Given the description of an element on the screen output the (x, y) to click on. 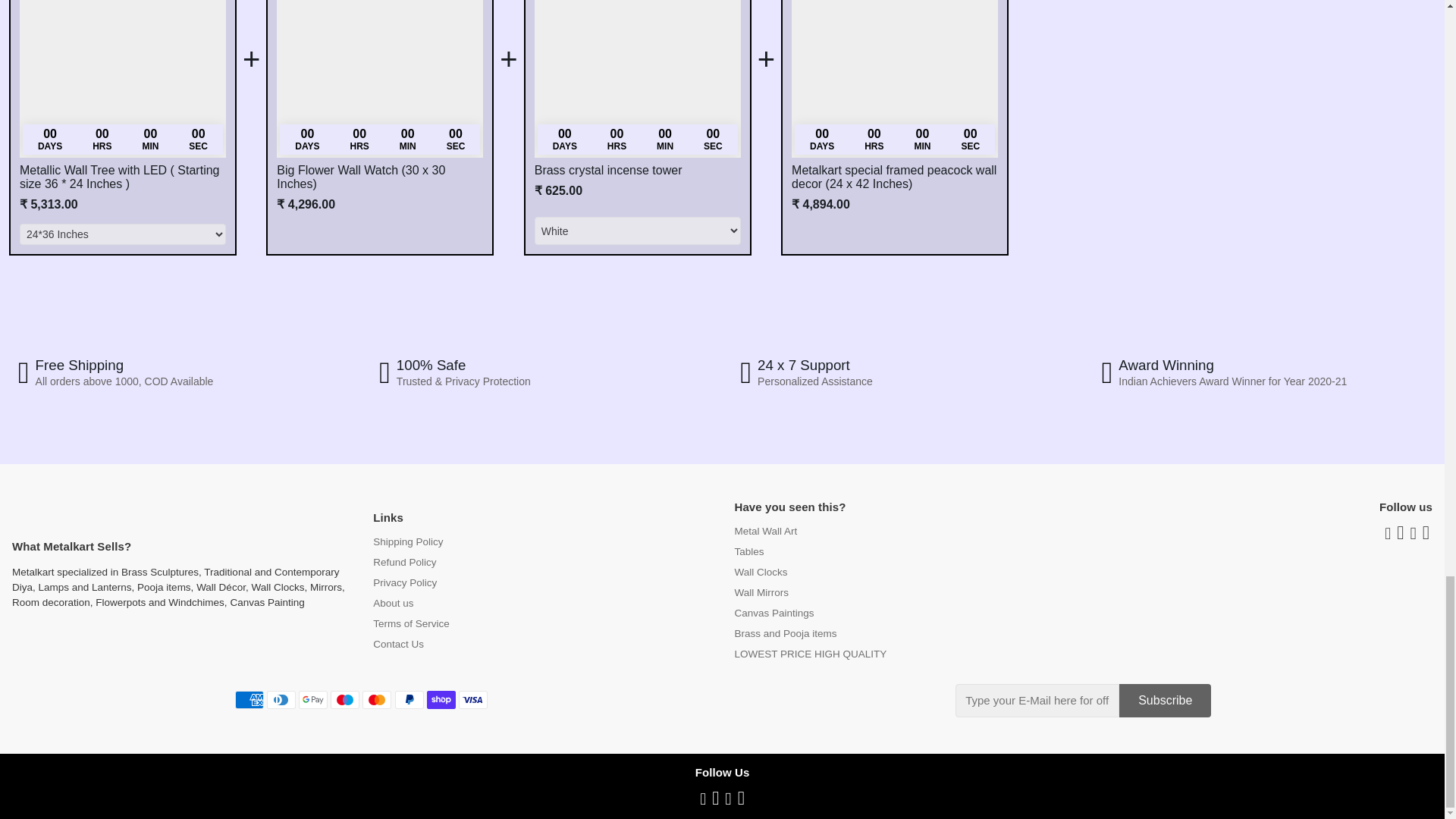
Maestro (344, 700)
PayPal (408, 700)
Visa (472, 700)
American Express (248, 700)
Google Pay (312, 700)
Diners Club (280, 700)
Mastercard (376, 700)
Shop Pay (440, 700)
